Given the description of an element on the screen output the (x, y) to click on. 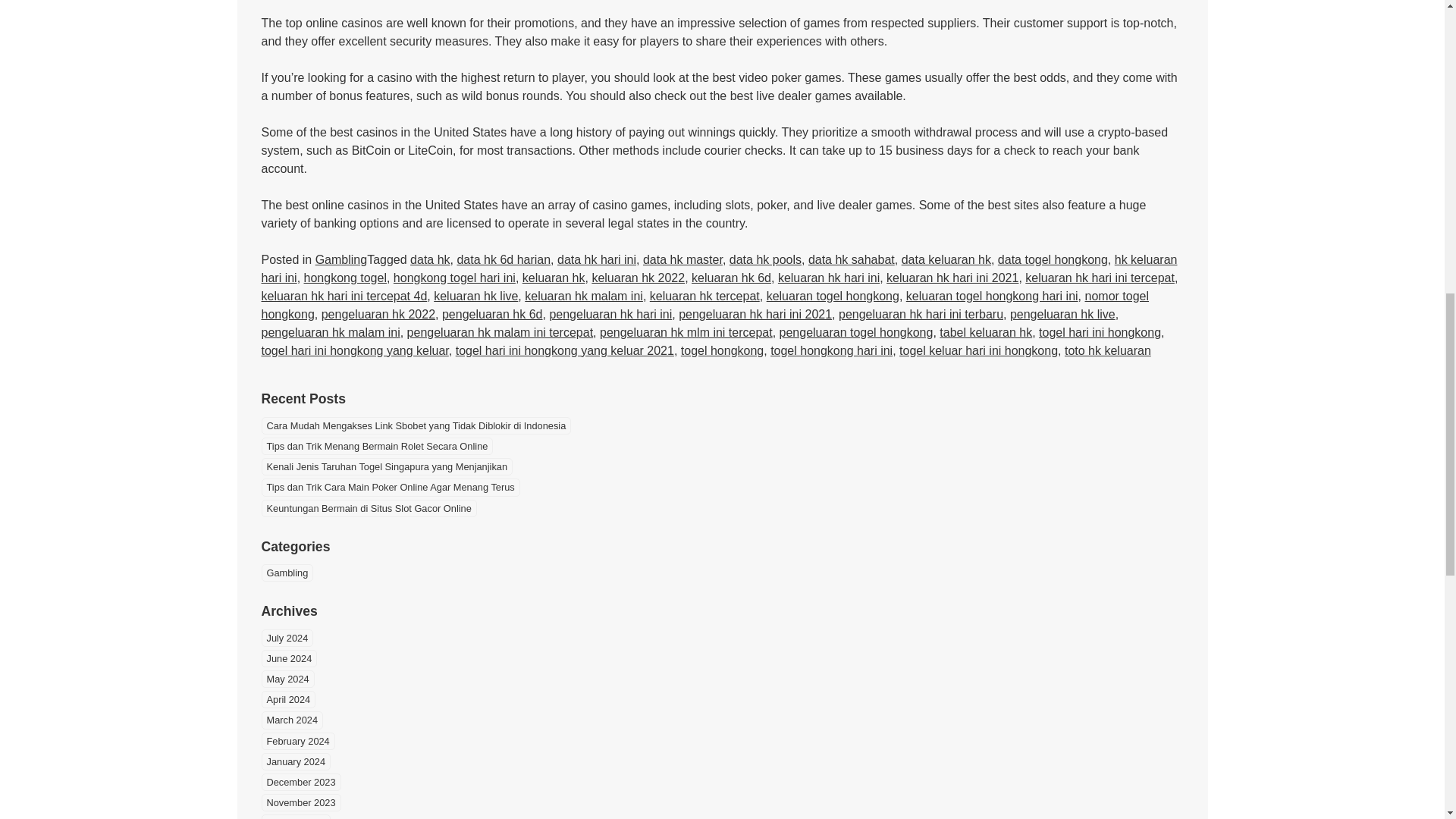
Gambling (340, 259)
data togel hongkong (1052, 259)
pengeluaran hk malam ini tercepat (499, 332)
keluaran hk hari ini tercepat 4d (343, 295)
pengeluaran hk hari ini terbaru (920, 314)
pengeluaran hk mlm ini tercepat (686, 332)
keluaran hk hari ini 2021 (951, 277)
hk keluaran hari ini (718, 268)
keluaran togel hongkong hari ini (991, 295)
data hk sahabat (851, 259)
data hk pools (765, 259)
keluaran hk 2022 (637, 277)
keluaran hk hari ini (828, 277)
keluaran hk tercepat (704, 295)
data hk hari ini (596, 259)
